Given the description of an element on the screen output the (x, y) to click on. 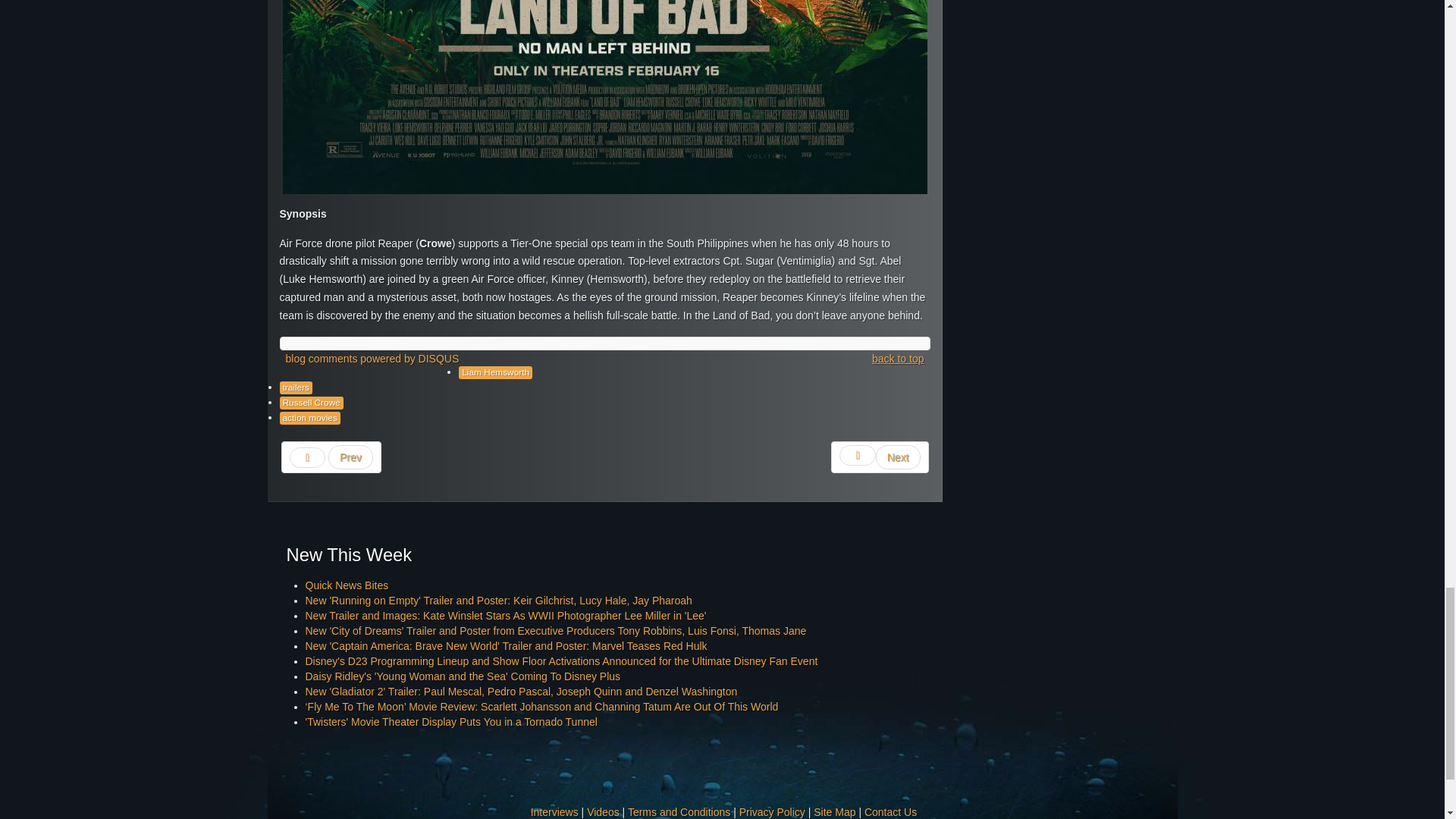
Video and Article Interviews (554, 811)
blog comments powered by DISQUS (371, 359)
Terms and Conditions (678, 811)
action movies (309, 418)
Liam Hemsworth (495, 372)
Quick News Bites (346, 585)
Next (879, 457)
Prev (330, 457)
Privacy Policy Page (772, 811)
